Given the description of an element on the screen output the (x, y) to click on. 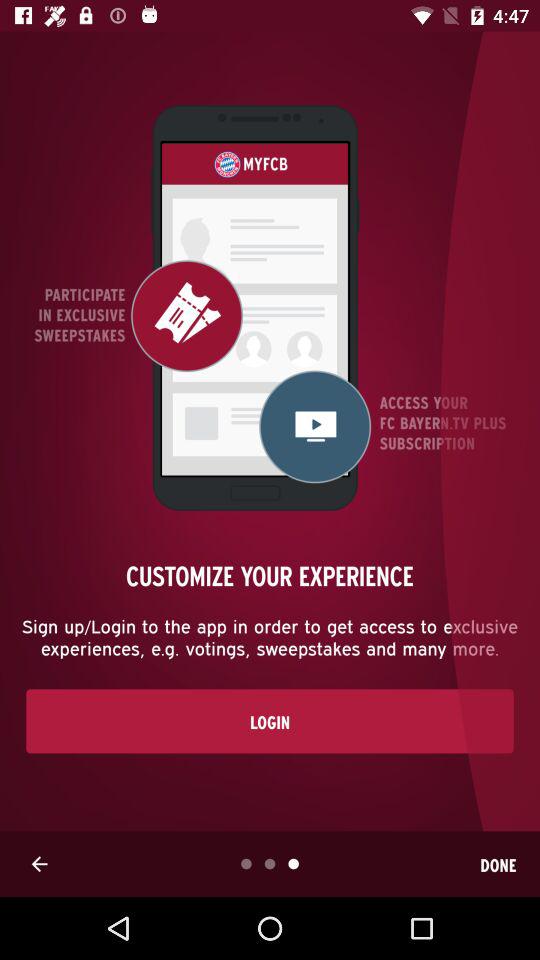
open done item (498, 864)
